Given the description of an element on the screen output the (x, y) to click on. 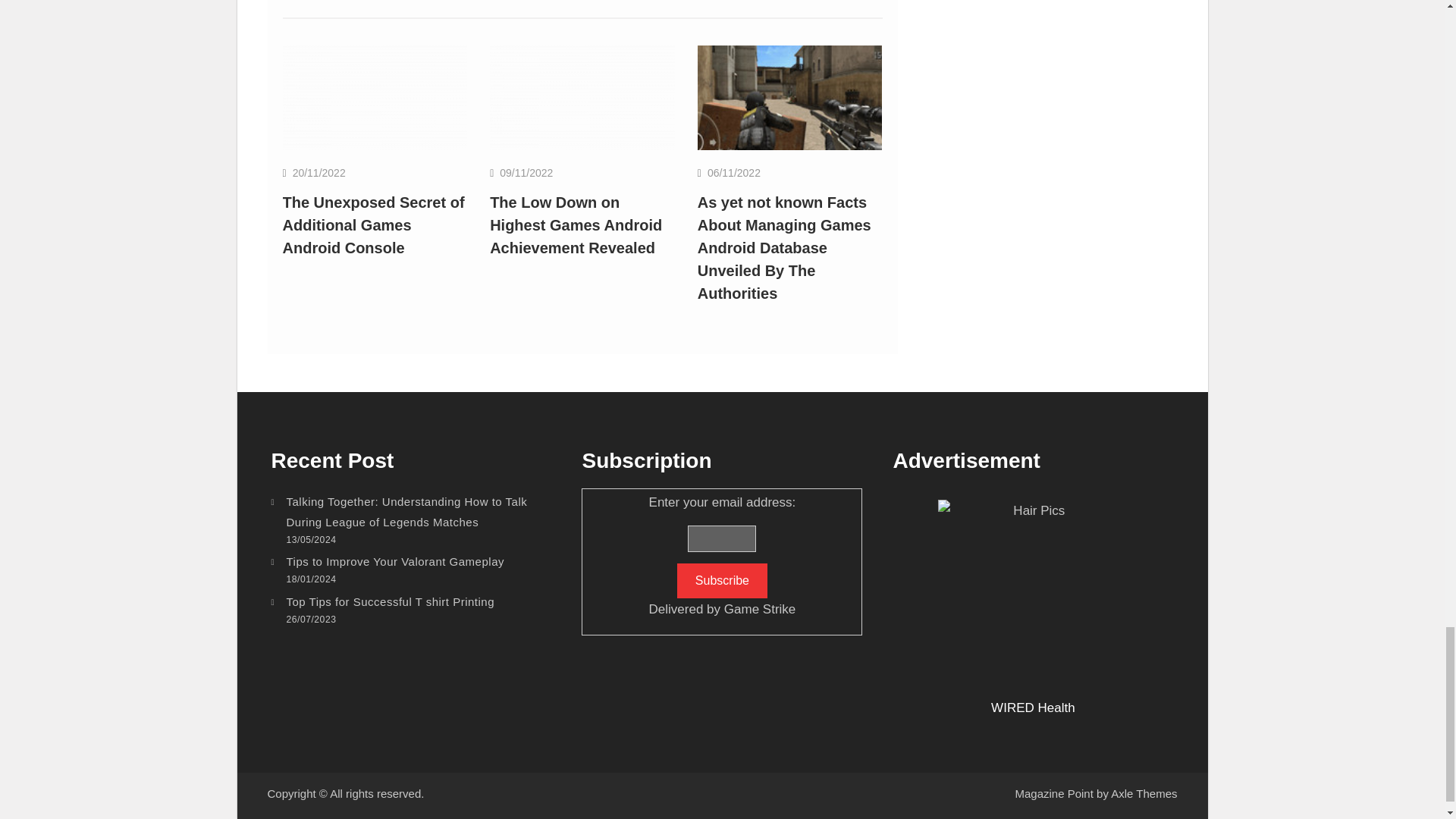
The Unexposed Secret of Additional Games Android Console (374, 97)
Subscribe (722, 580)
The Unexposed Secret of Additional Games Android Console (373, 225)
The Low Down on Highest Games Android Achievement Revealed (582, 97)
The Low Down on Highest Games Android Achievement Revealed (575, 225)
